Given the description of an element on the screen output the (x, y) to click on. 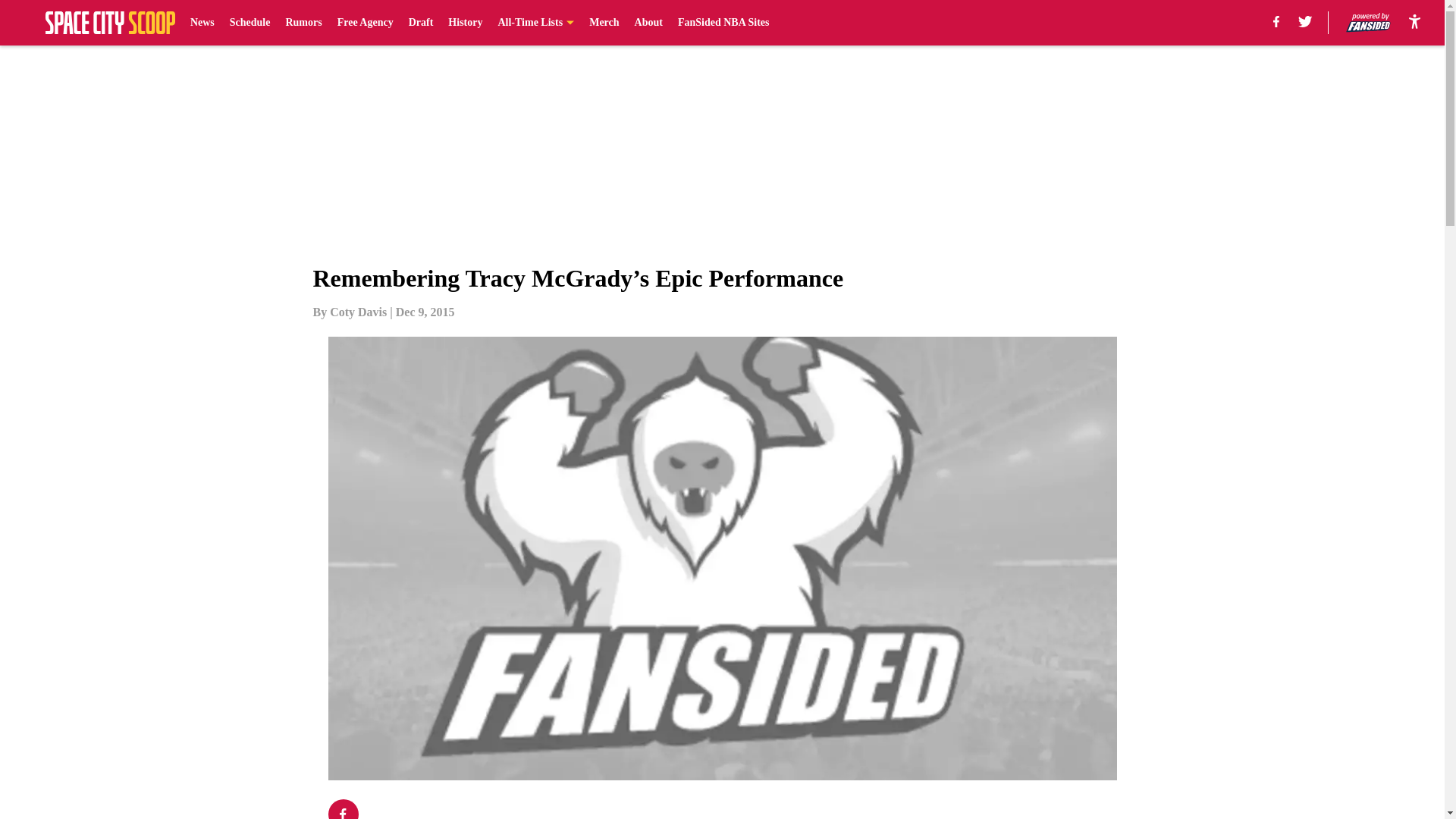
Schedule (250, 22)
Rumors (303, 22)
FanSided NBA Sites (724, 22)
News (202, 22)
Merch (603, 22)
History (464, 22)
All-Time Lists (535, 22)
Draft (421, 22)
Free Agency (365, 22)
About (648, 22)
